Given the description of an element on the screen output the (x, y) to click on. 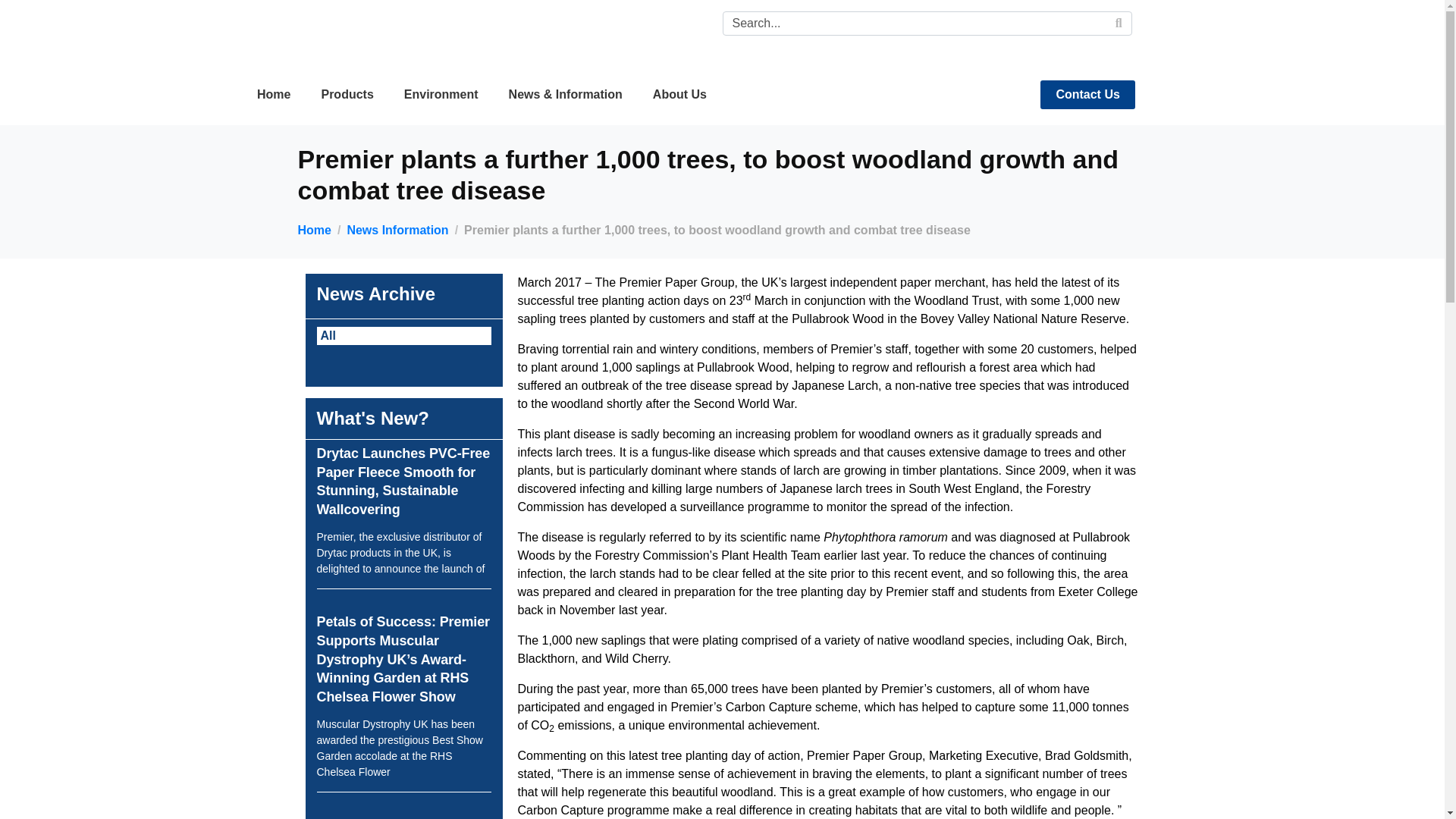
Environment (440, 94)
Home (273, 94)
Products (346, 94)
